Given the description of an element on the screen output the (x, y) to click on. 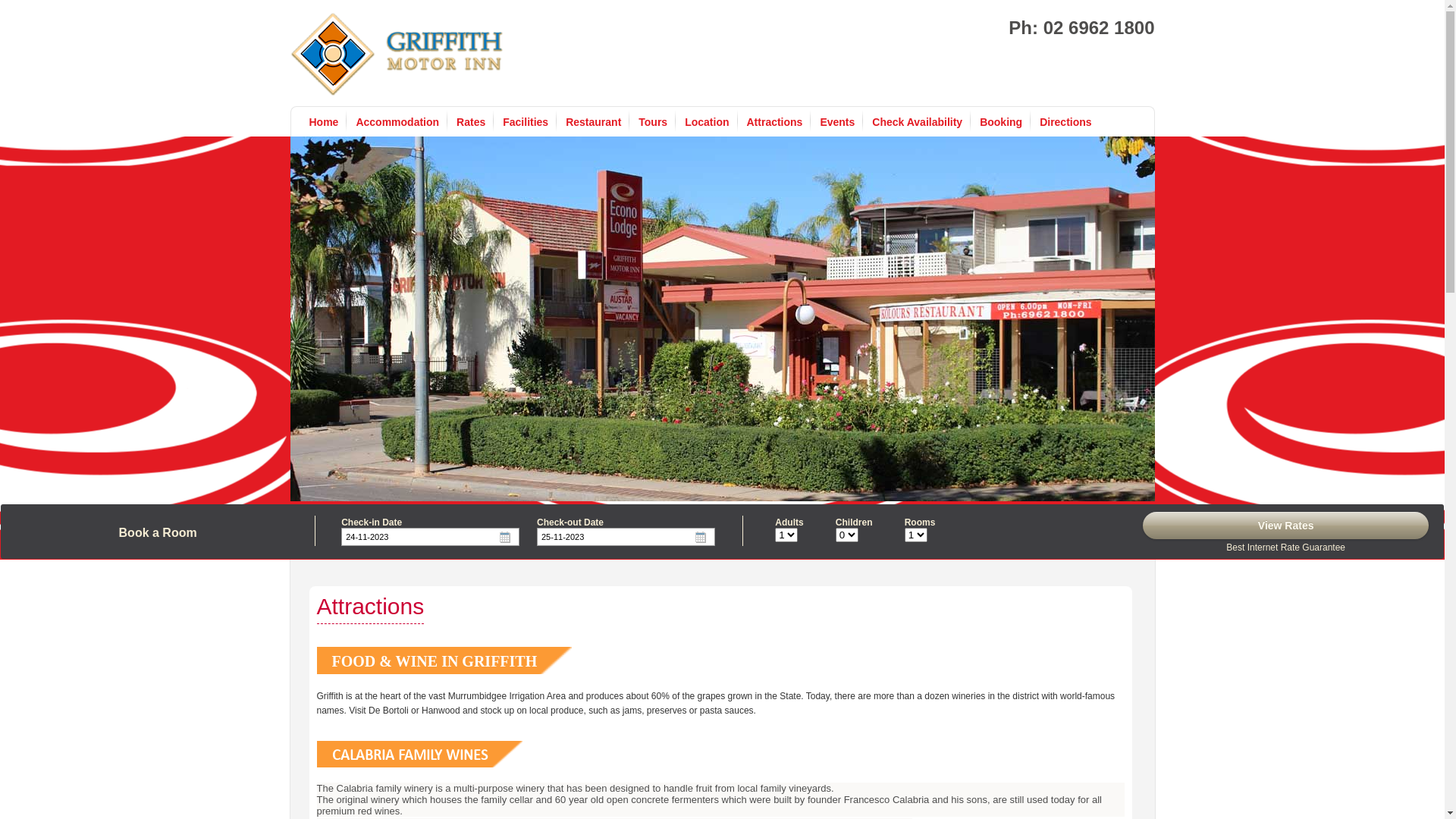
Location Element type: text (706, 121)
Restaurant Element type: text (593, 121)
Accommodation Element type: text (397, 121)
Facilities Element type: text (525, 121)
Rates Element type: text (470, 121)
Booking Element type: text (1000, 121)
View Rates Element type: text (1285, 525)
Directions Element type: text (1065, 121)
Home Element type: text (323, 121)
Tours Element type: text (652, 121)
Attractions Element type: text (774, 121)
Events Element type: text (836, 121)
Check Availability Element type: text (917, 121)
